Given the description of an element on the screen output the (x, y) to click on. 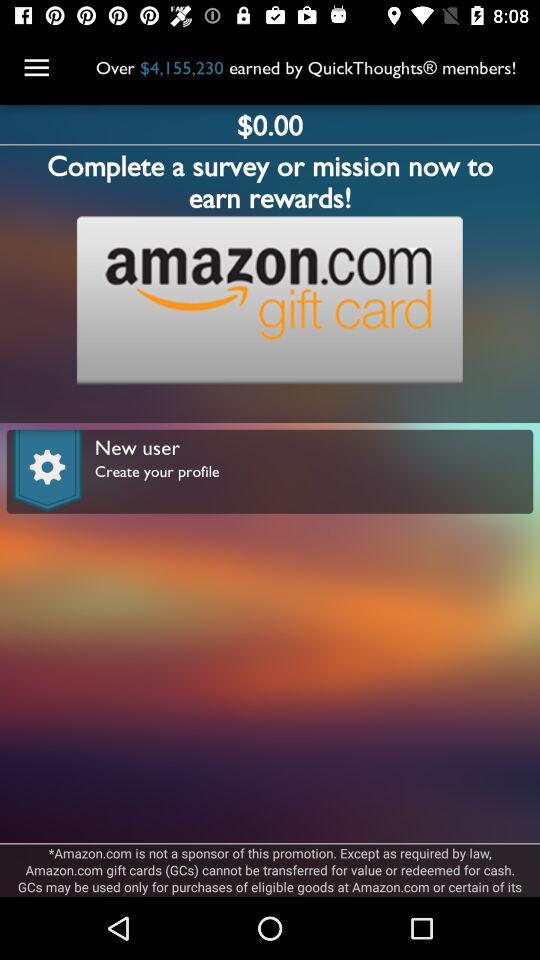
choose the amazon com is (269, 870)
